Given the description of an element on the screen output the (x, y) to click on. 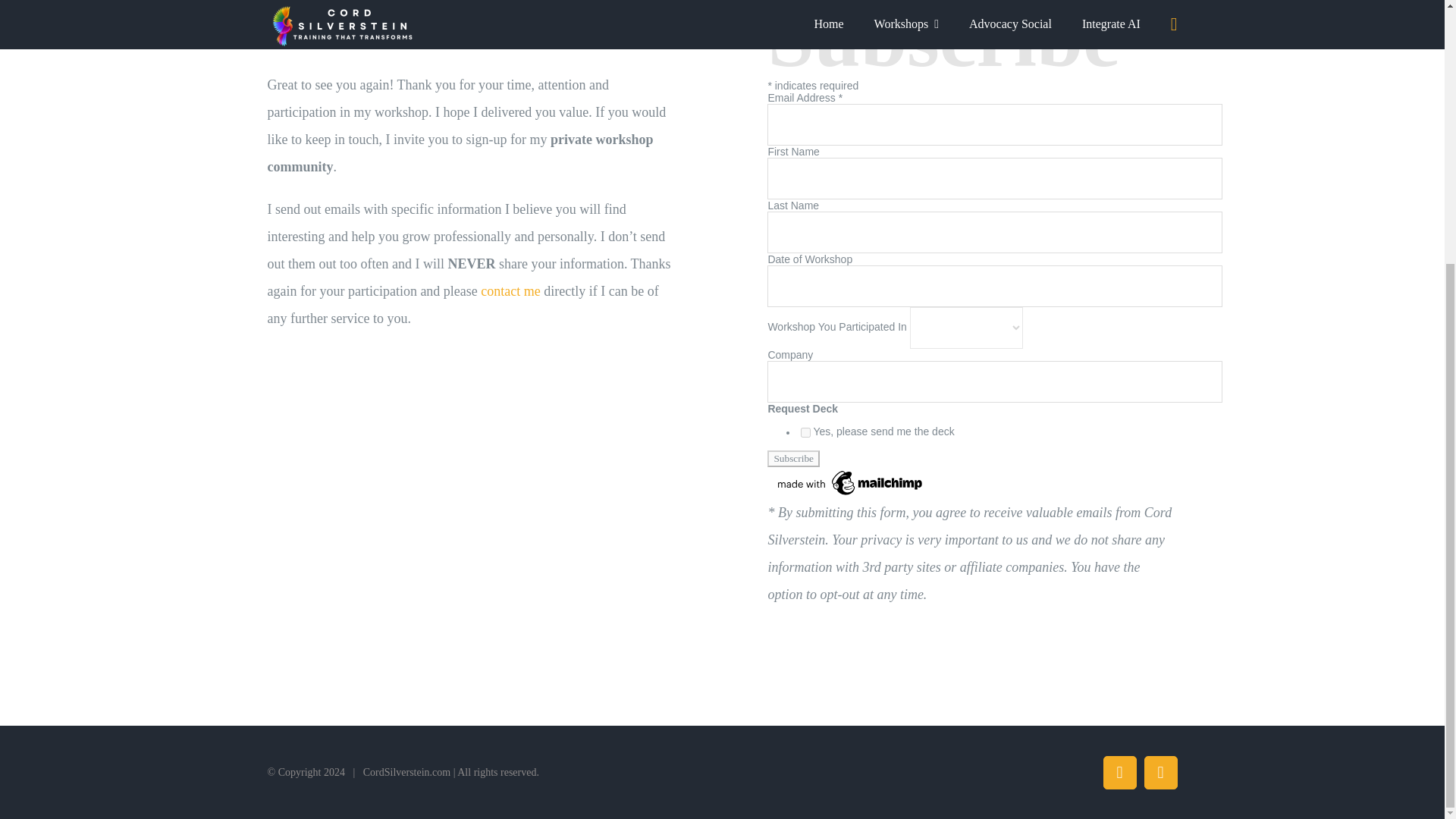
LinkedIn (1118, 772)
Mailchimp - email marketing made easy and fun (850, 472)
contact me (510, 290)
Subscribe (793, 458)
Subscribe (793, 458)
X (1159, 772)
